Given the description of an element on the screen output the (x, y) to click on. 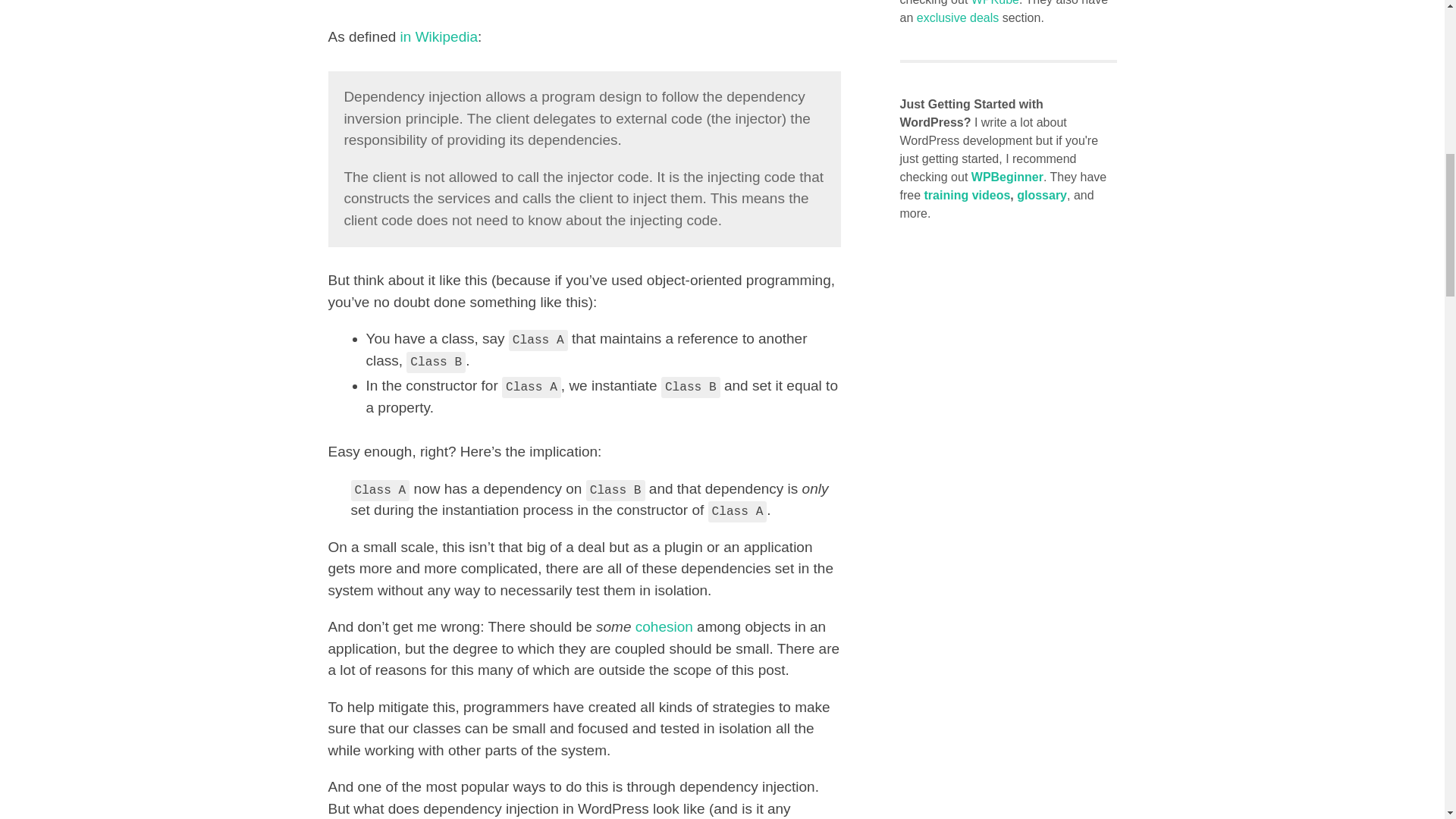
in Wikipedia (438, 36)
cohesion (663, 626)
